Given the description of an element on the screen output the (x, y) to click on. 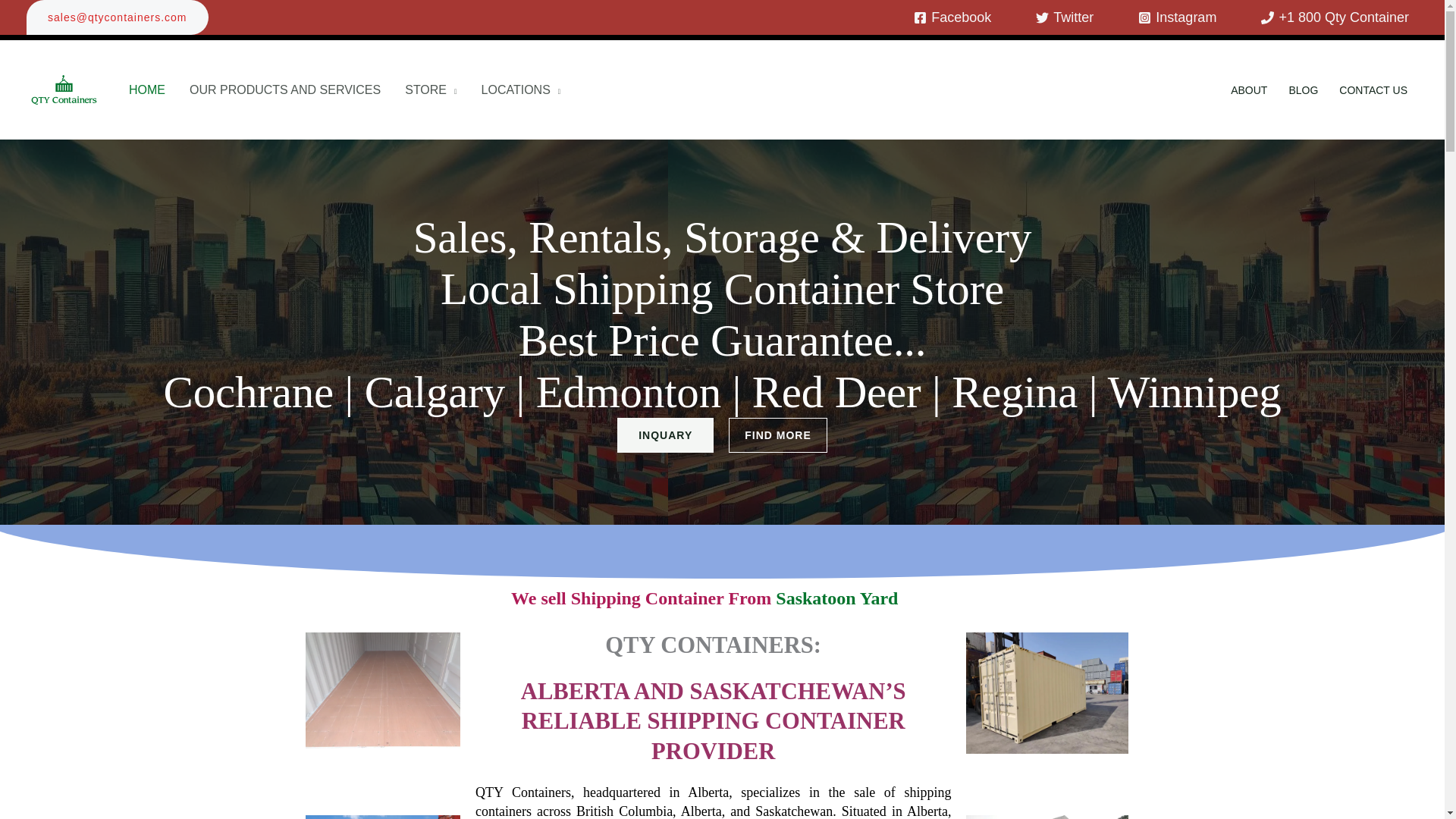
Twitter (1064, 17)
STORE (430, 89)
LOCATIONS (520, 89)
Facebook (952, 17)
ABOUT (1249, 89)
OUR PRODUCTS AND SERVICES (285, 89)
HOME (146, 89)
Instagram (1177, 17)
